Given the description of an element on the screen output the (x, y) to click on. 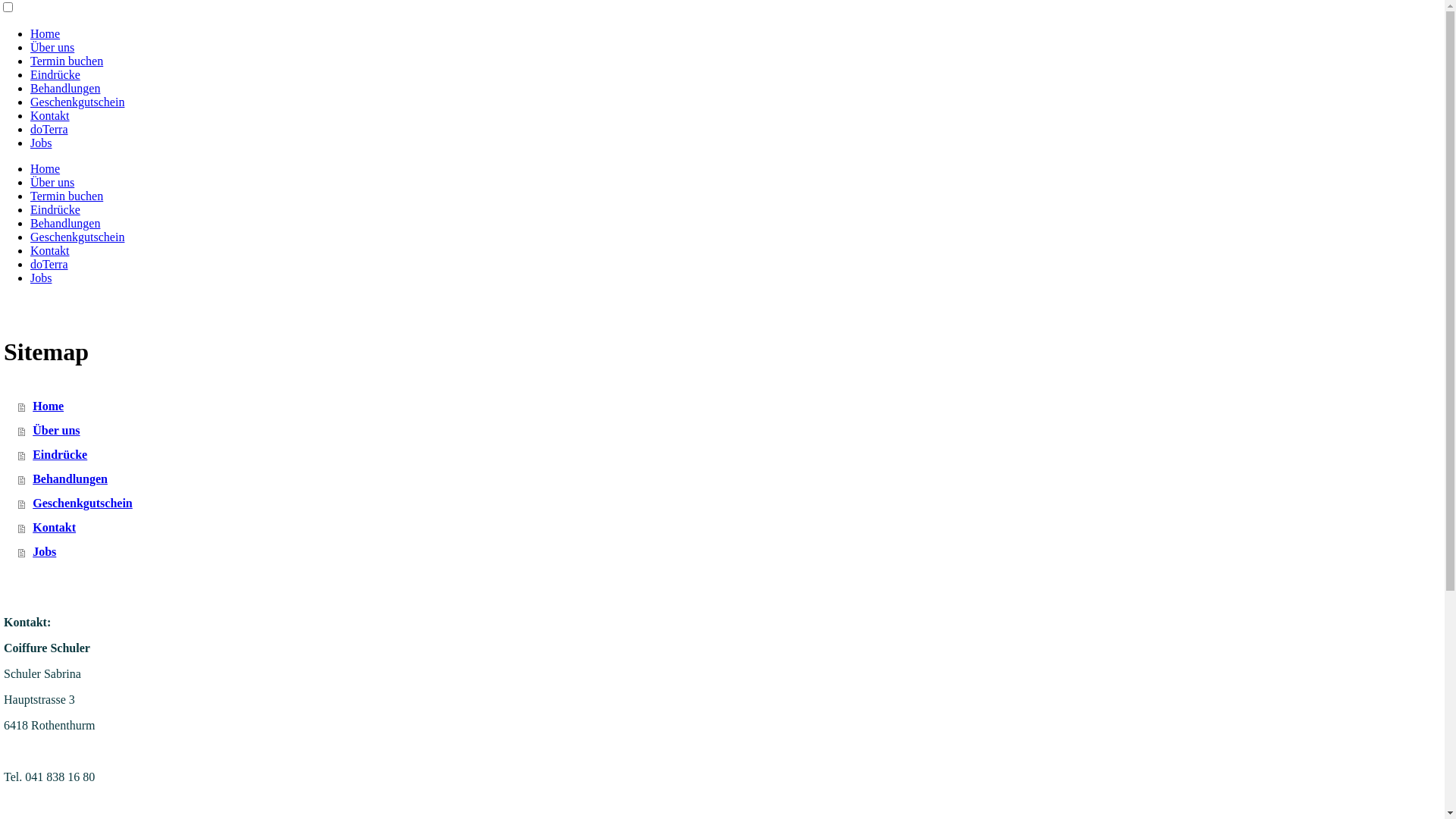
Geschenkgutschein Element type: text (77, 101)
Geschenkgutschein Element type: text (77, 236)
Kontakt Element type: text (731, 527)
Kontakt Element type: text (49, 115)
Home Element type: text (731, 406)
Jobs Element type: text (40, 277)
Home Element type: text (44, 33)
Home Element type: text (44, 168)
Behandlungen Element type: text (65, 222)
Termin buchen Element type: text (66, 60)
doTerra Element type: text (49, 263)
Kontakt Element type: text (49, 250)
Geschenkgutschein Element type: text (731, 503)
Jobs Element type: text (731, 551)
Behandlungen Element type: text (731, 479)
Termin buchen Element type: text (66, 195)
doTerra Element type: text (49, 128)
Behandlungen Element type: text (65, 87)
Jobs Element type: text (40, 142)
